Given the description of an element on the screen output the (x, y) to click on. 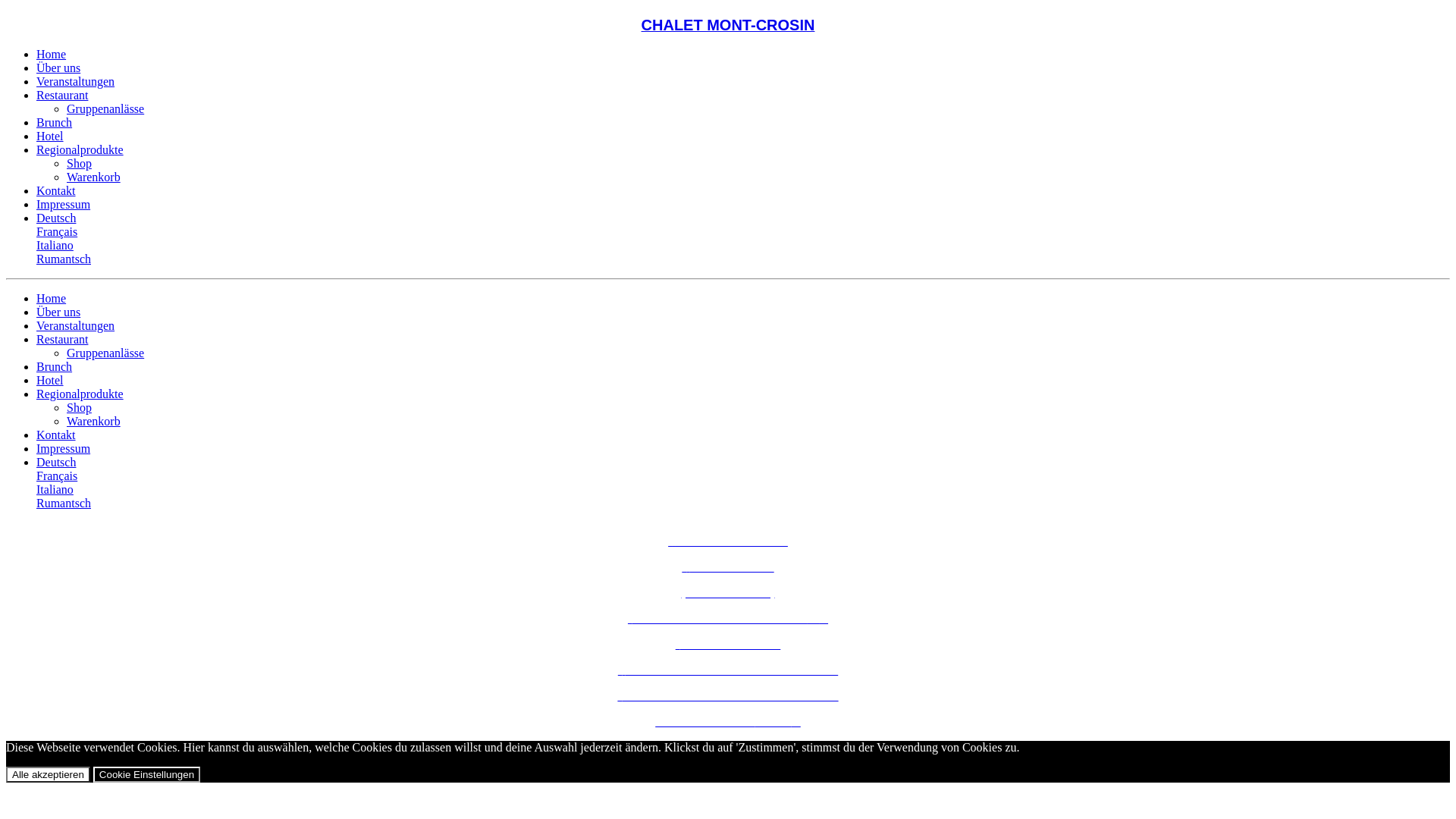
Warenkorb Element type: text (93, 420)
Restaurant Element type: text (61, 94)
CHALET MONT-CROSIN Element type: text (727, 23)
Home Element type: text (50, 297)
Kontakt Element type: text (55, 190)
Italiano Element type: text (54, 489)
Brunch Element type: text (54, 366)
Deutsch Element type: text (55, 217)
Alle akzeptieren Element type: text (48, 774)
Shop Element type: text (78, 407)
Hotel Element type: text (49, 379)
Regionalprodukte Element type: text (79, 393)
Kontakt Element type: text (55, 434)
Italiano Element type: text (54, 244)
Shop Element type: text (78, 162)
Veranstaltungen Element type: text (75, 81)
Veranstaltungen Element type: text (75, 325)
Regionalprodukte Element type: text (79, 149)
Brunch Element type: text (54, 122)
Impressum Element type: text (63, 448)
Impressum Element type: text (63, 203)
Rumantsch Element type: text (63, 258)
Deutsch Element type: text (55, 461)
Hotel Element type: text (49, 135)
Rumantsch Element type: text (63, 502)
Home Element type: text (50, 53)
Restaurant Element type: text (61, 338)
Warenkorb Element type: text (93, 176)
Cookie Einstellungen Element type: text (146, 774)
